Given the description of an element on the screen output the (x, y) to click on. 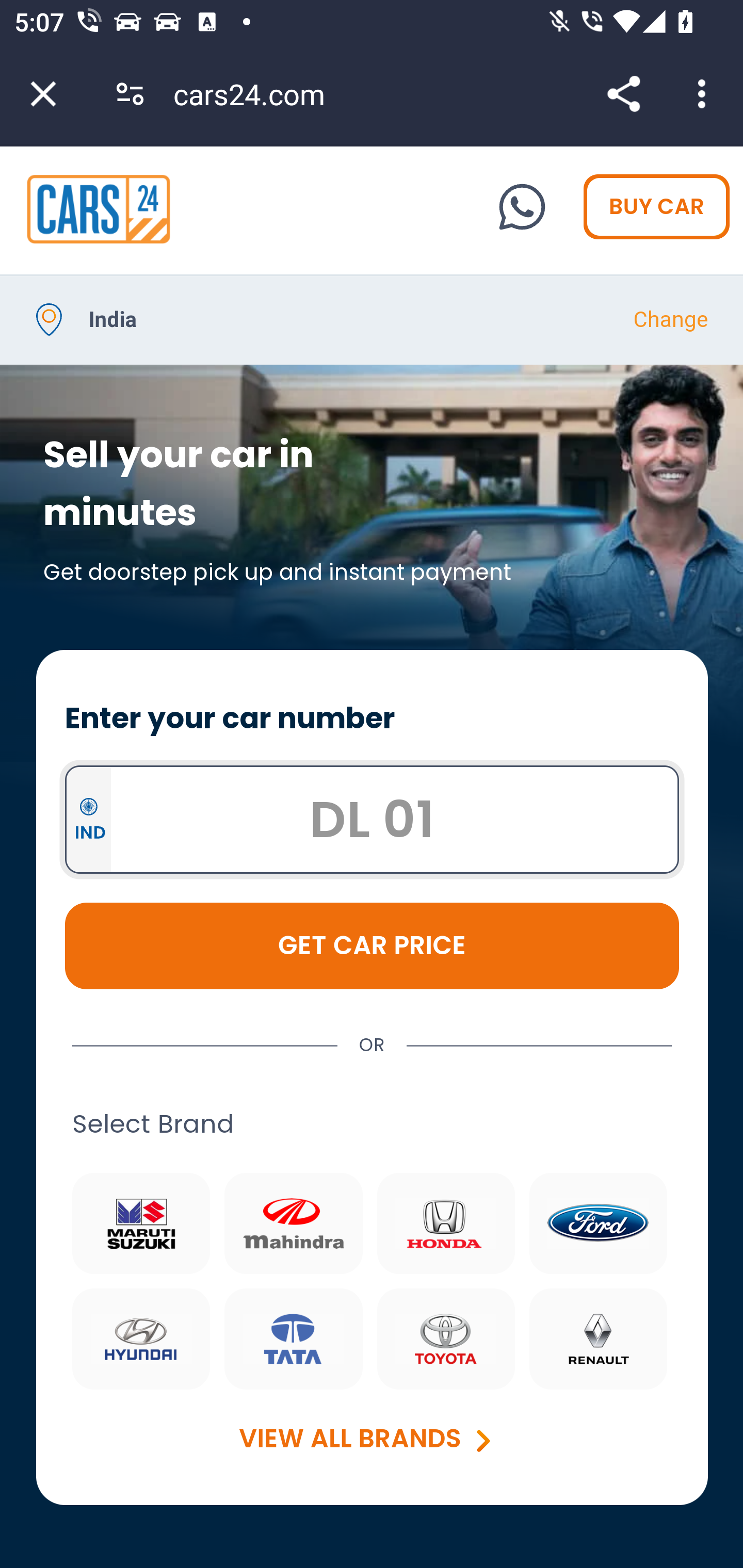
Close tab (43, 93)
Share (623, 93)
Customize and control Google Chrome (705, 93)
Connection is secure (129, 93)
cars24.com (256, 93)
BUY CAR (657, 206)
GET CAR PRICE (372, 945)
